Given the description of an element on the screen output the (x, y) to click on. 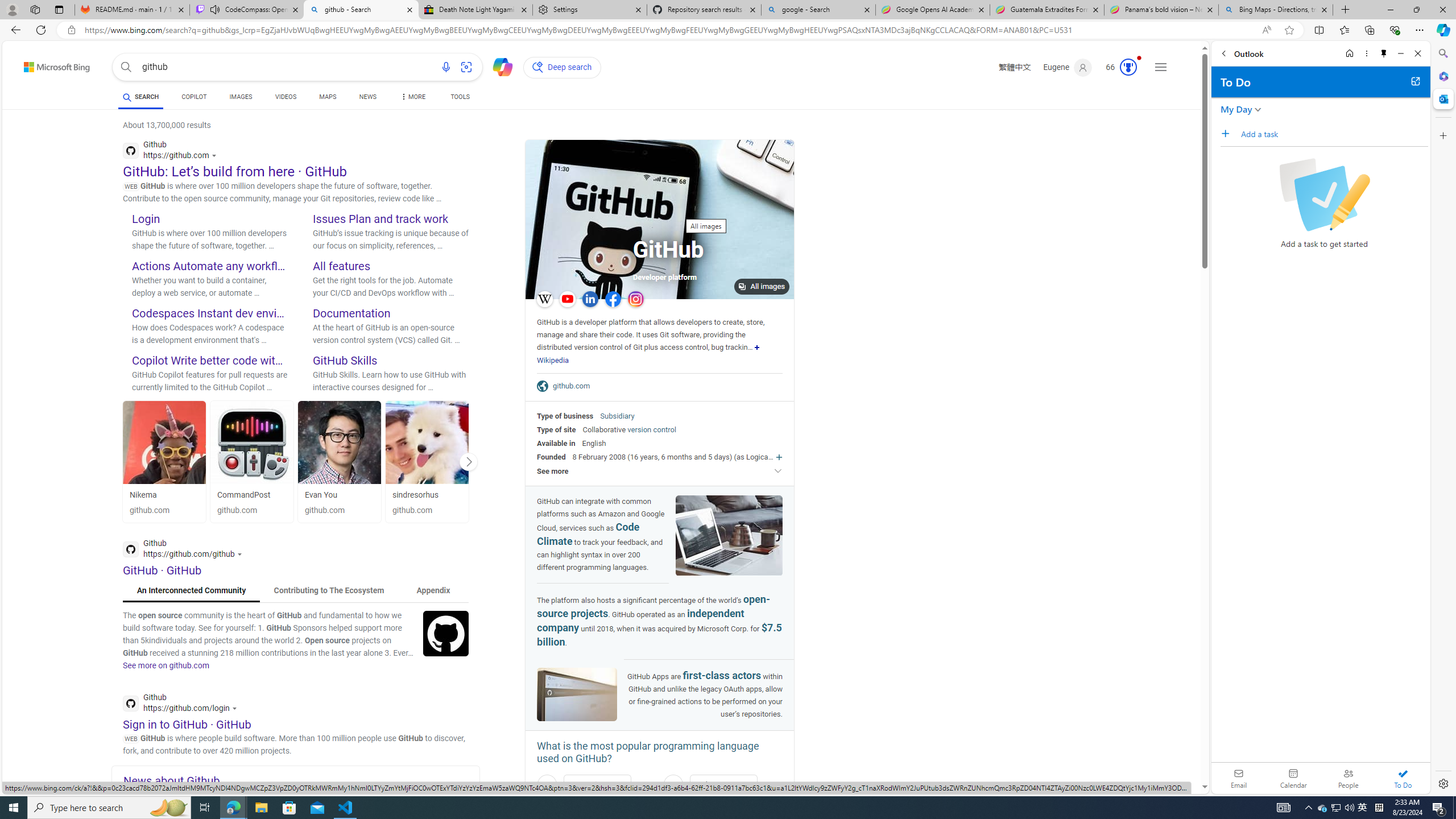
My Day (1236, 109)
Skip to content (36, 63)
sindresorhus sindresorhus github.com (426, 461)
AutomationID: mfa_root (1161, 752)
sindresorhus (426, 442)
Unpin side pane (1383, 53)
MAPS (327, 96)
